Given the description of an element on the screen output the (x, y) to click on. 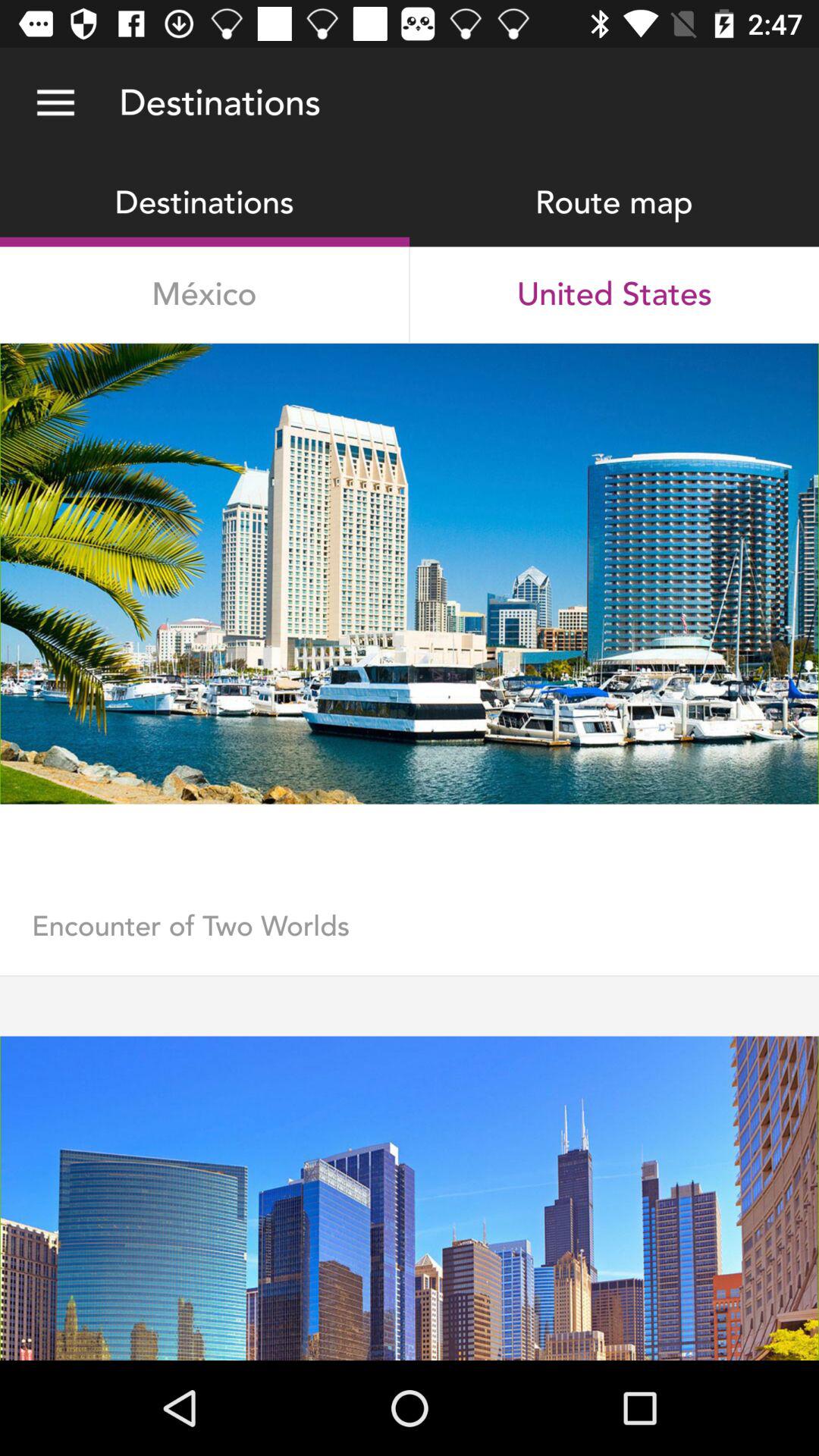
press the encounter of two item (409, 942)
